Given the description of an element on the screen output the (x, y) to click on. 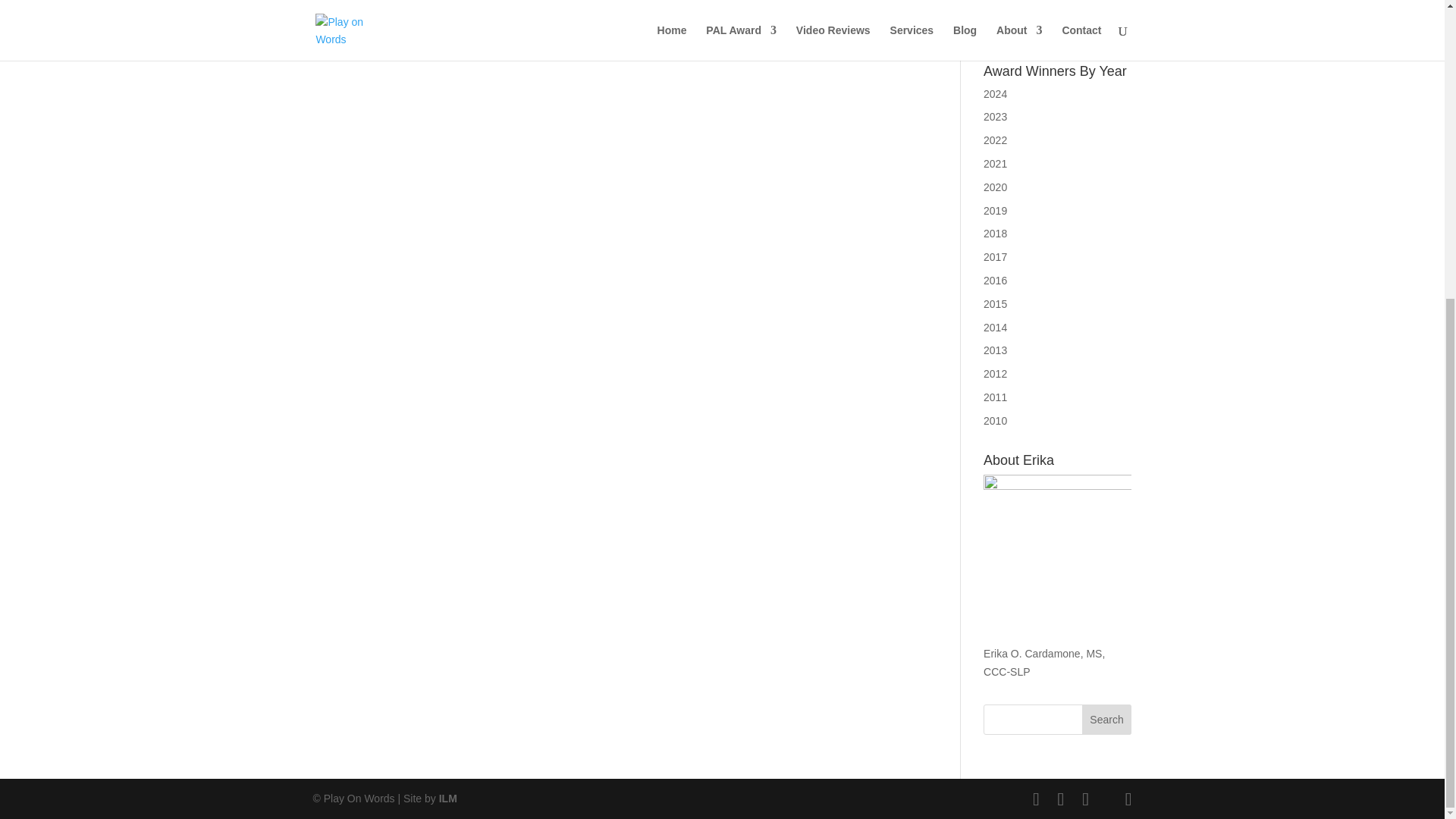
2014 (995, 327)
2024 (995, 93)
2020 (995, 186)
2021 (995, 163)
Search (1106, 719)
2011 (995, 397)
2016 (995, 280)
2017 (995, 256)
2015 (995, 304)
2013 (995, 349)
2022 (995, 140)
2018 (995, 233)
2023 (995, 116)
2010 (995, 420)
2012 (995, 373)
